Given the description of an element on the screen output the (x, y) to click on. 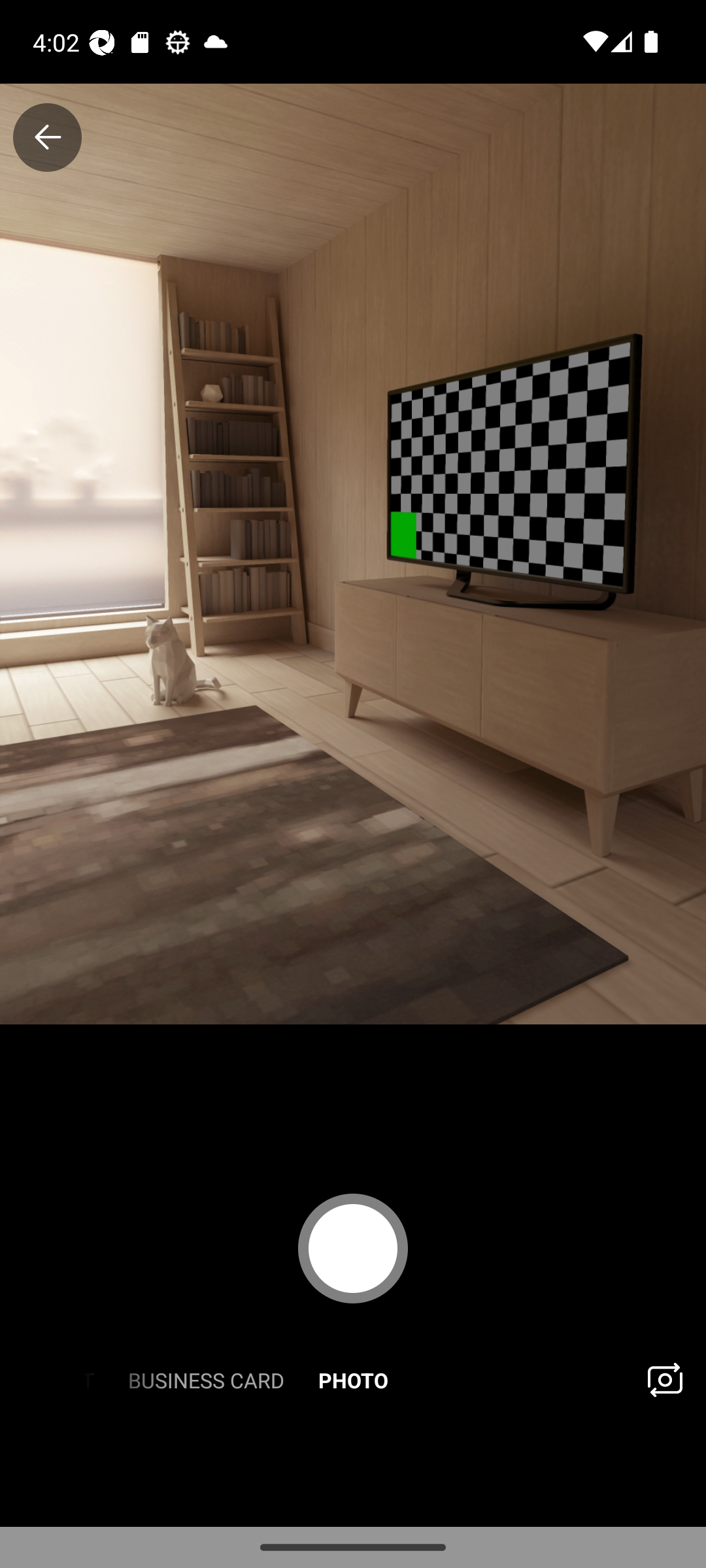
Close (47, 137)
Capture (352, 1248)
Flip Camera (664, 1378)
BUSINESS CARD (205, 1379)
PHOTO (352, 1379)
